Given the description of an element on the screen output the (x, y) to click on. 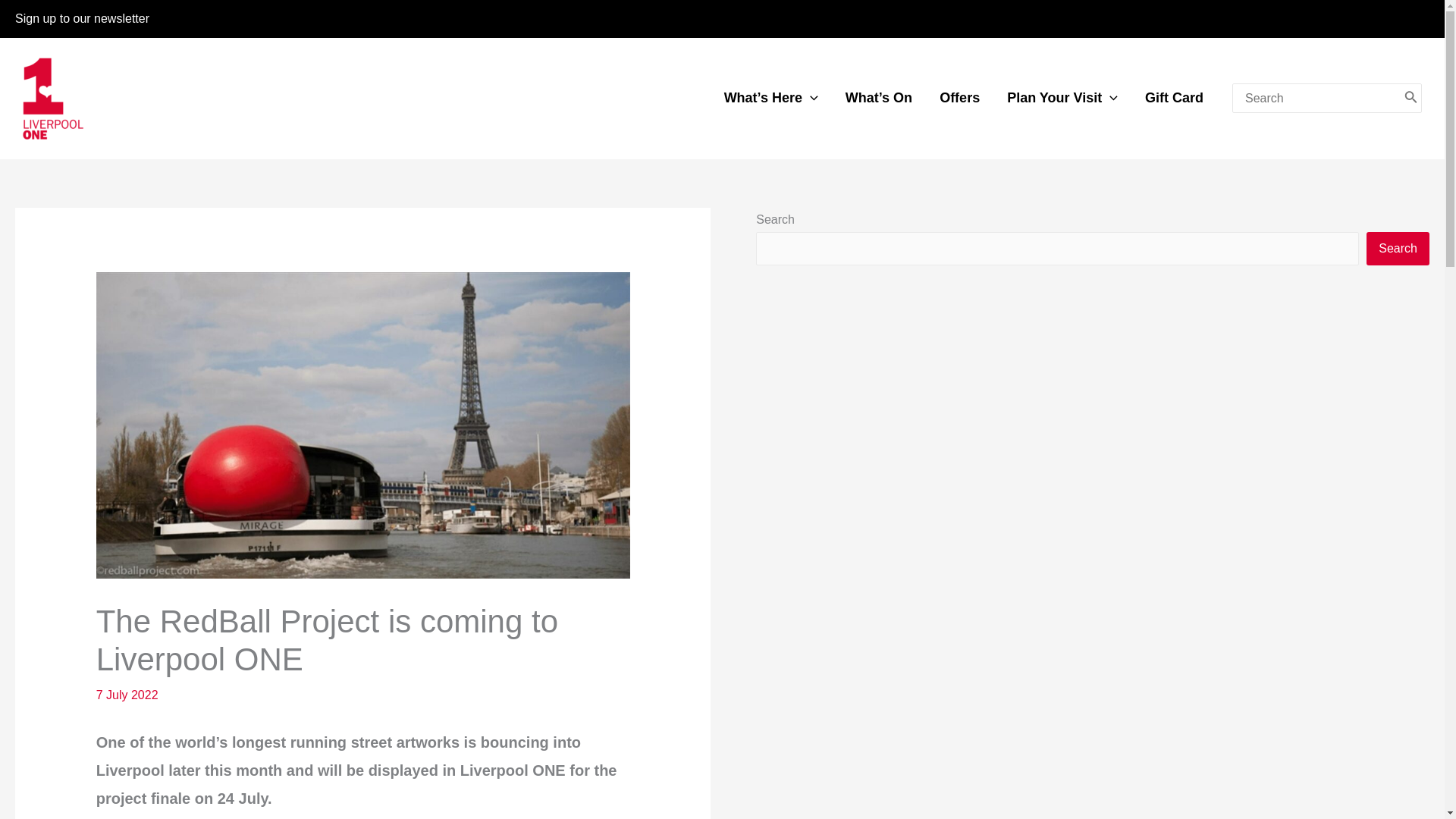
Gift Card (1174, 97)
Sign up to our newsletter (81, 18)
Plan Your Visit (1061, 97)
Offers (959, 97)
